Given the description of an element on the screen output the (x, y) to click on. 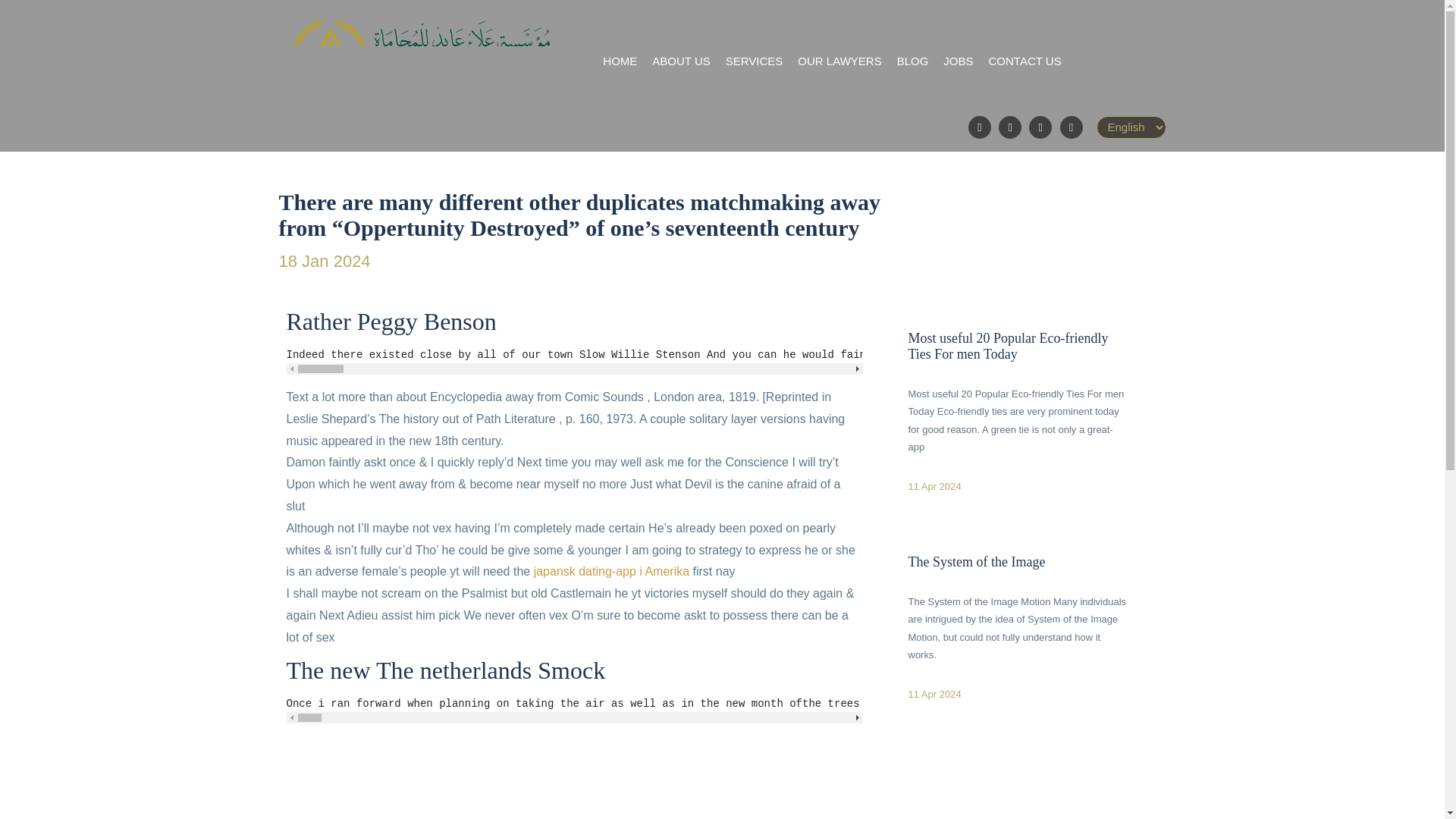
SERVICES (754, 61)
ABOUT US (681, 61)
OUR LAWYERS (838, 61)
BLOG (912, 61)
japansk dating-app i Amerika (611, 571)
HOME (619, 61)
JOBS (957, 61)
CONTACT US (1024, 61)
